Given the description of an element on the screen output the (x, y) to click on. 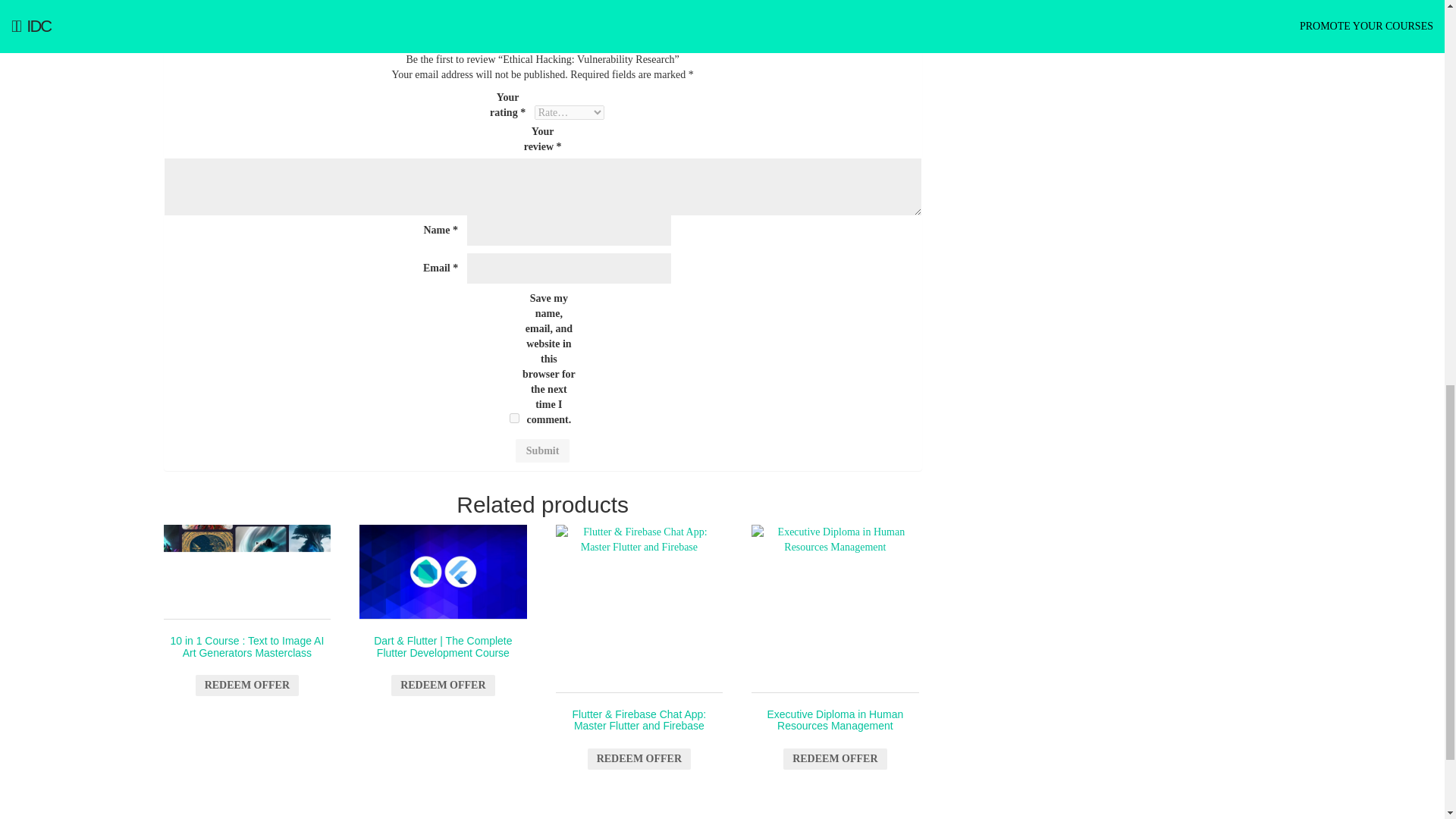
Submit (542, 450)
10 in 1 Course : Text to Image AI Art Generators Masterclass (247, 607)
REDEEM OFFER (443, 685)
REDEEM OFFER (639, 758)
yes (514, 418)
REDEEM OFFER (246, 685)
REDEEM OFFER (834, 758)
Submit (542, 450)
Executive Diploma in Human Resources Management (834, 608)
10 in 1 Course : Text to Image AI Art Generators Masterclass (247, 571)
